Given the description of an element on the screen output the (x, y) to click on. 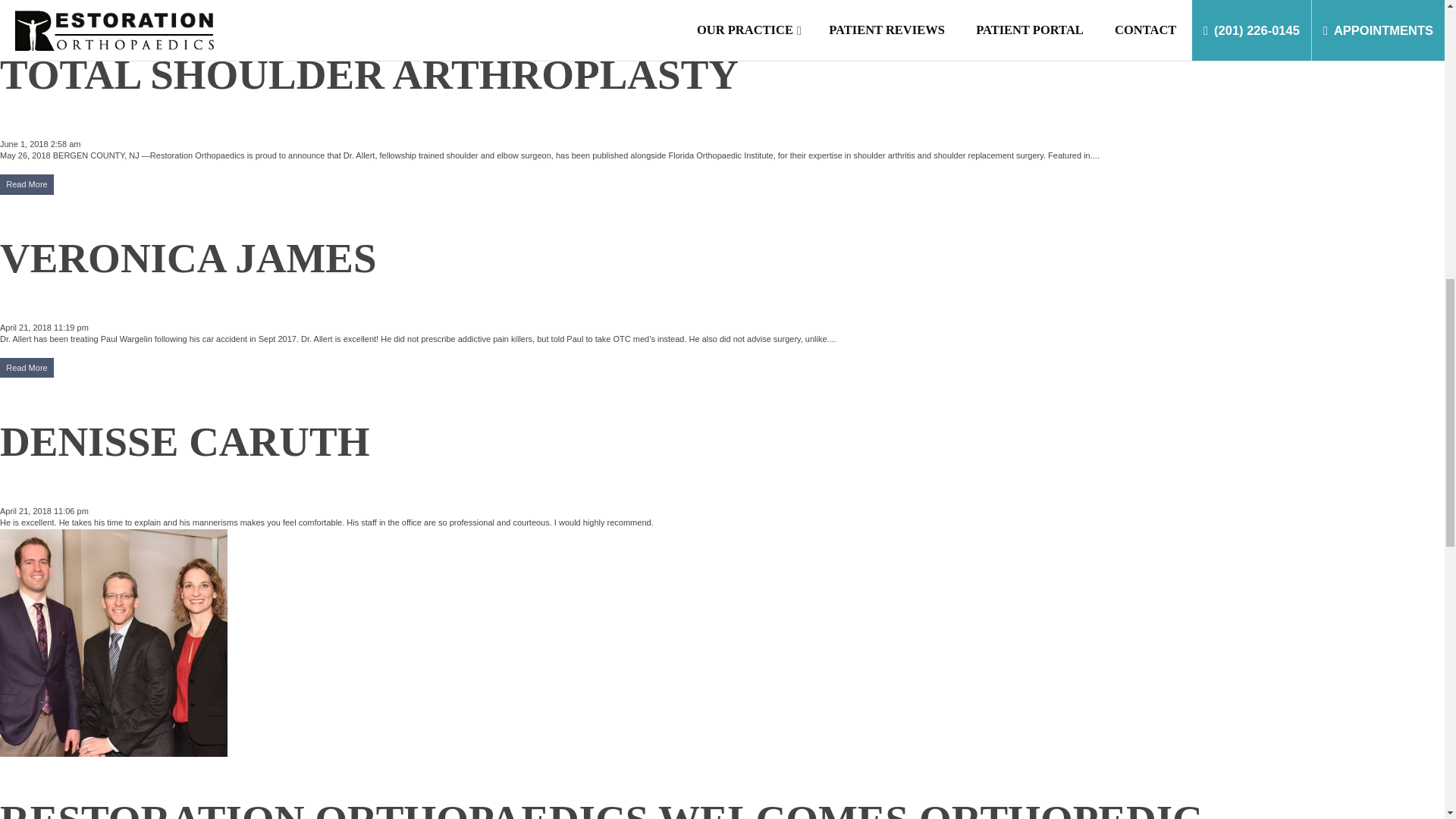
Read More (26, 184)
Veronica James (188, 258)
Denisse Caruth (184, 441)
DENISSE CARUTH (184, 441)
Read More (26, 367)
VERONICA JAMES (188, 258)
